Given the description of an element on the screen output the (x, y) to click on. 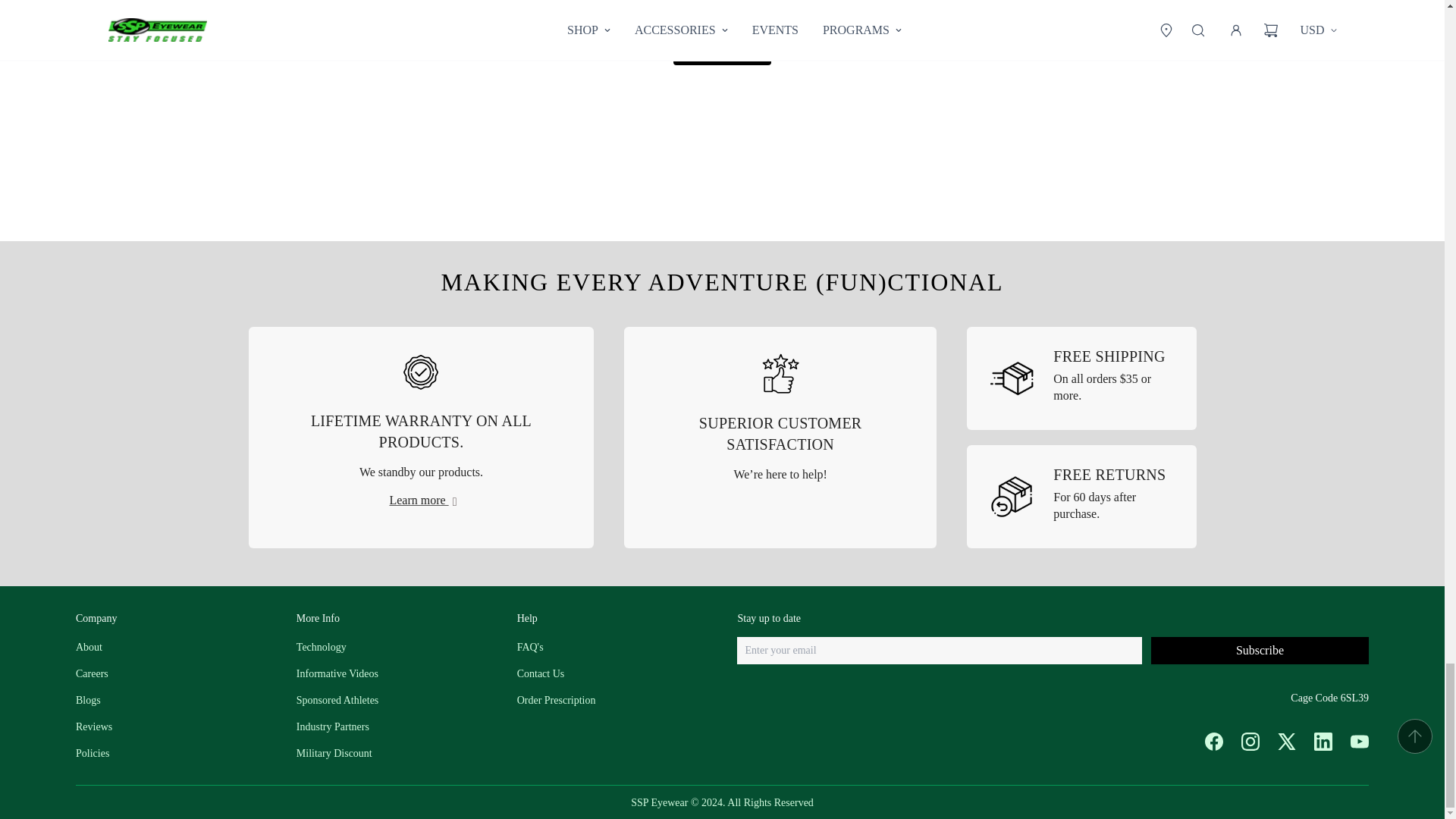
Submit Now (721, 48)
